Given the description of an element on the screen output the (x, y) to click on. 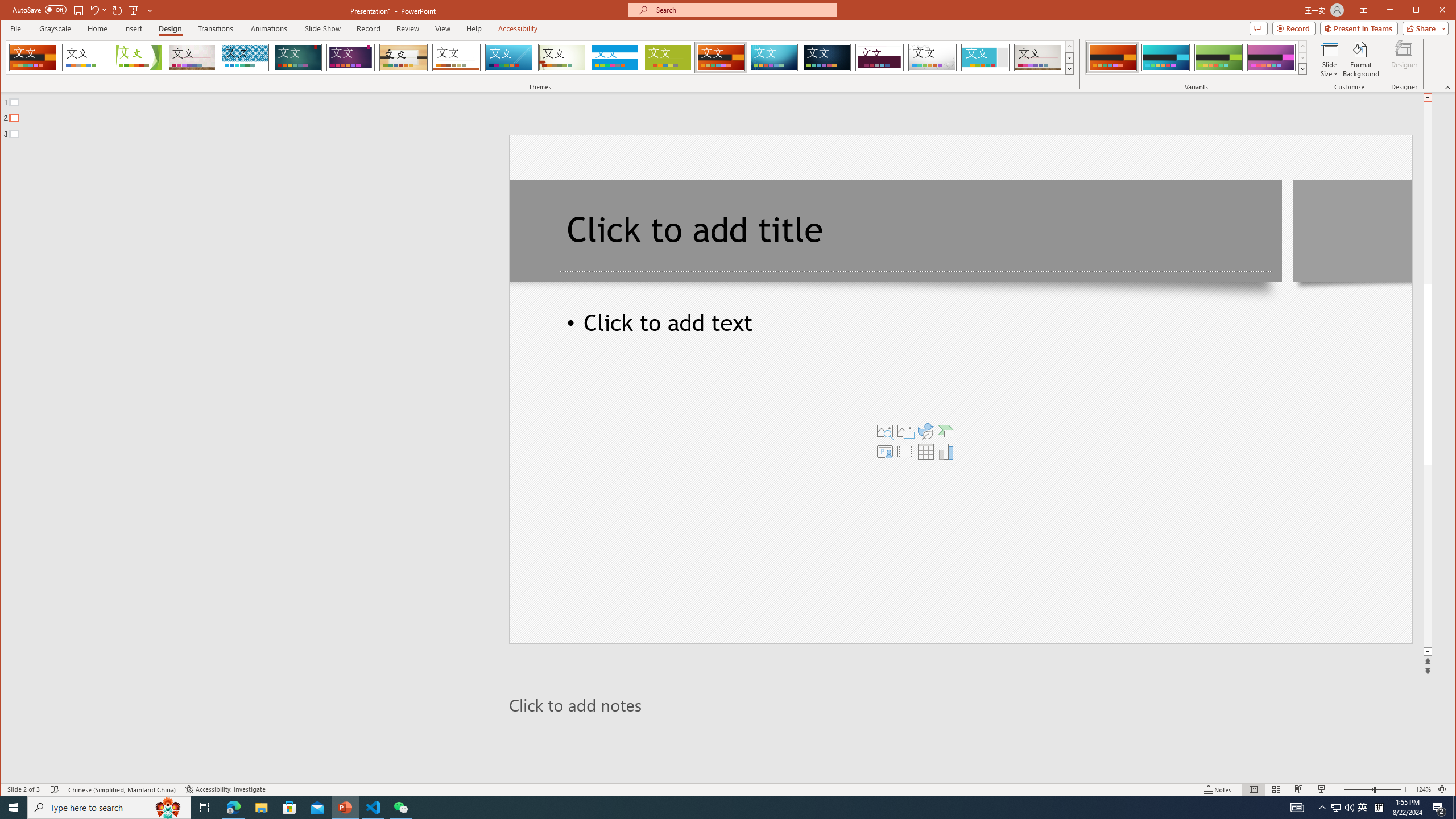
Berlin Variant 4 (1270, 57)
